Given the description of an element on the screen output the (x, y) to click on. 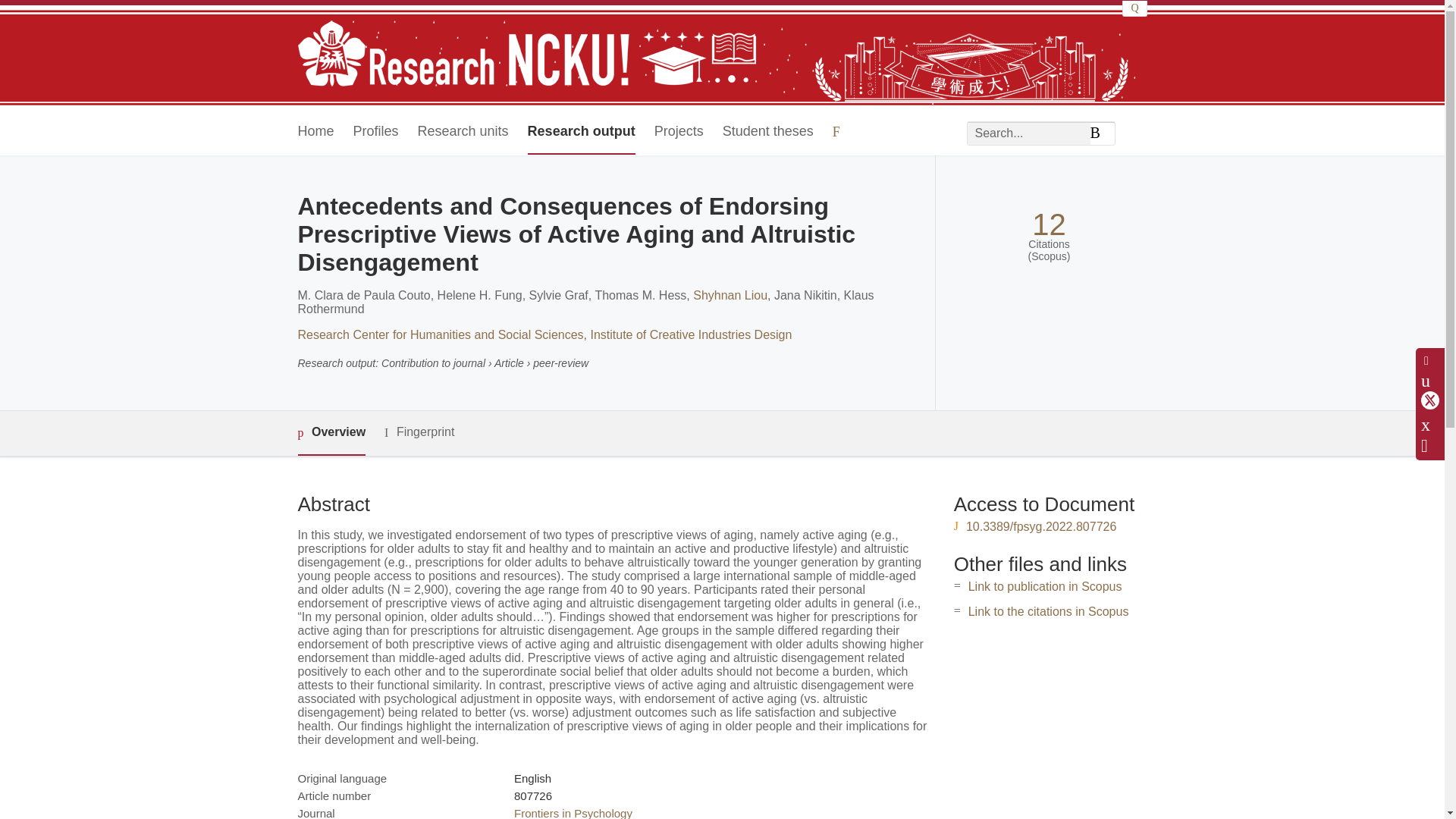
Frontiers in Psychology (572, 812)
Link to the citations in Scopus (1048, 611)
Link to publication in Scopus (1045, 585)
National Cheng Kung University Home (526, 54)
Institute of Creative Industries Design (690, 334)
Overview (331, 433)
Home (315, 131)
Student theses (767, 131)
Research output (580, 131)
Shyhnan Liou (730, 295)
Research units (462, 131)
12 (1048, 224)
Profiles (375, 131)
Fingerprint (419, 432)
